Given the description of an element on the screen output the (x, y) to click on. 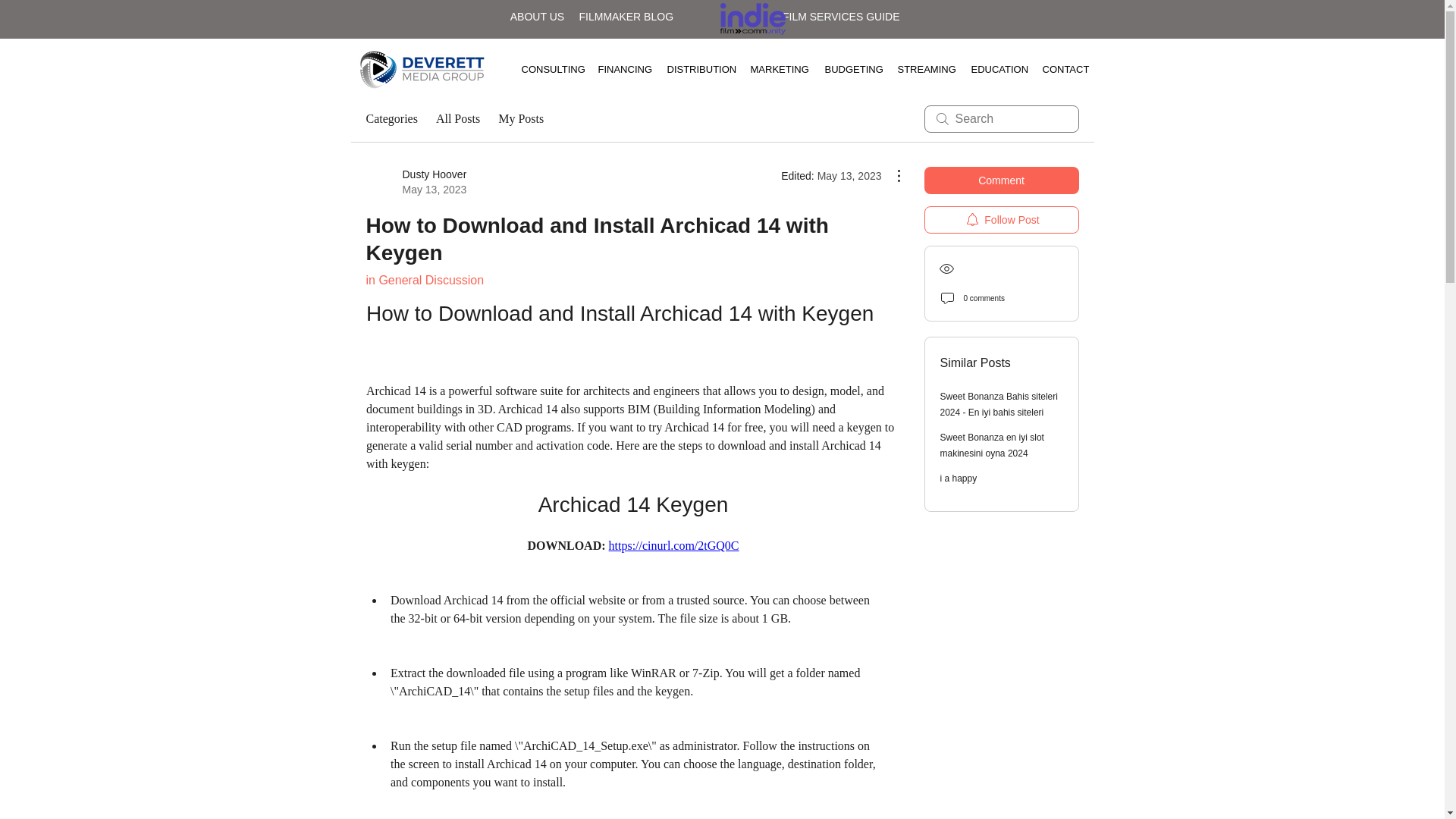
Follow Post (1000, 219)
Sweet Bonanza en iyi slot makinesini oyna 2024 (991, 445)
CONSULTING (547, 69)
DISTRIBUTION (696, 69)
i a happy (958, 478)
MARKETING (775, 69)
Sweet Bonanza Bahis siteleri 2024 - En iyi bahis siteleri (999, 404)
in General Discussion (424, 279)
Comment (1000, 180)
FINANCING (621, 69)
EDUCATION (994, 69)
STREAMING (922, 69)
My Posts (520, 118)
All Posts (415, 182)
